Given the description of an element on the screen output the (x, y) to click on. 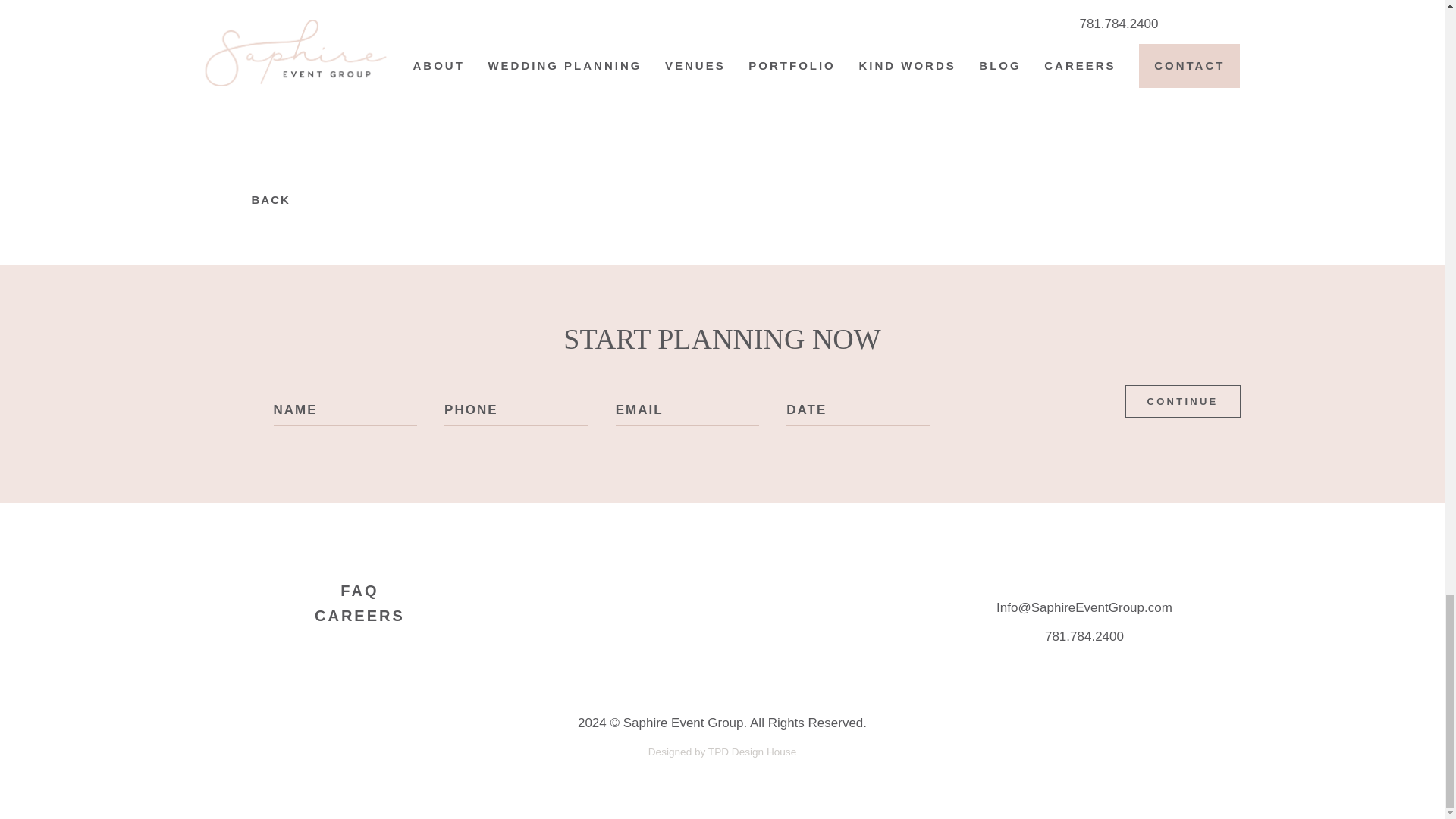
Continue (1182, 400)
